Given the description of an element on the screen output the (x, y) to click on. 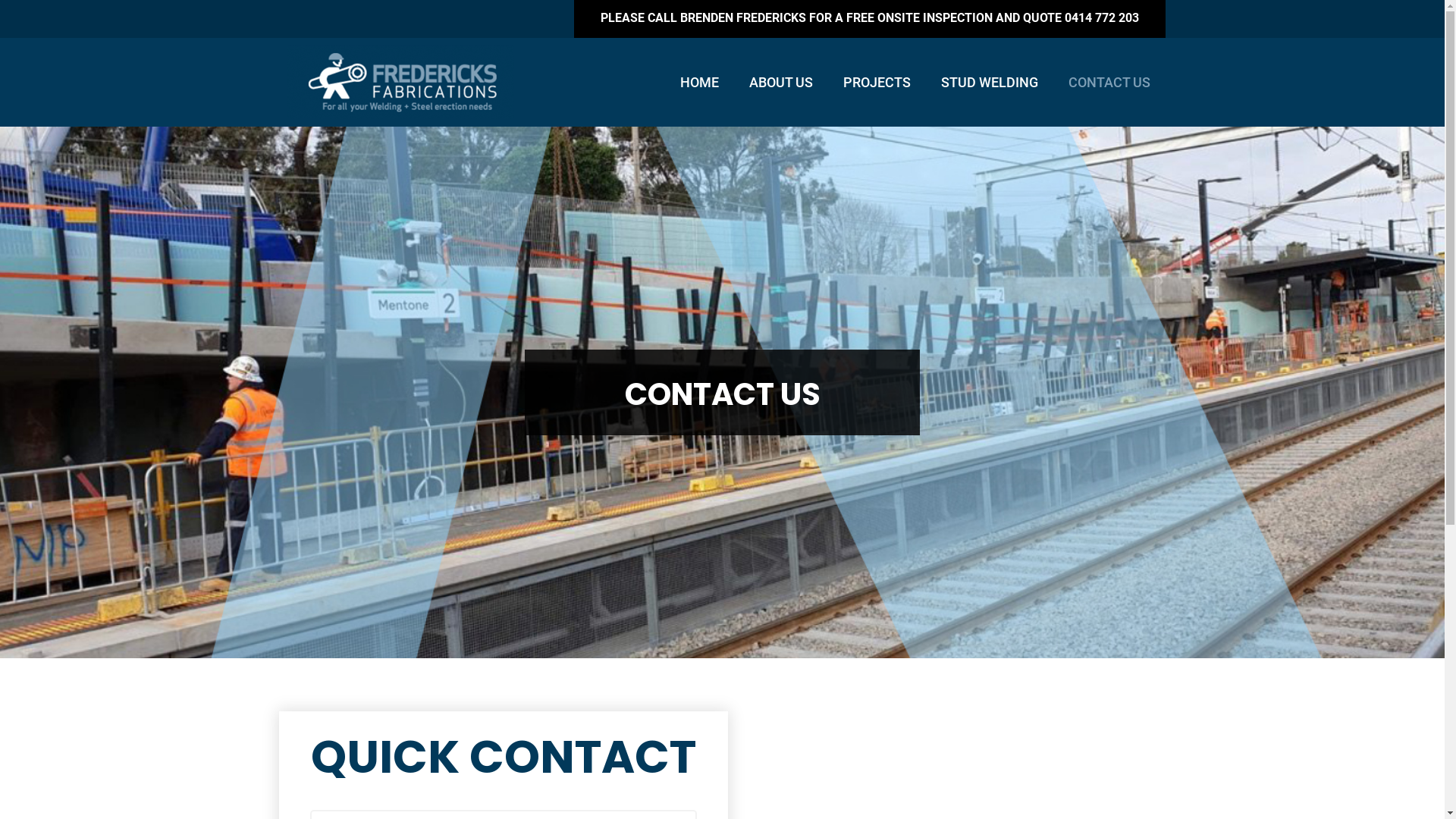
PROJECTS Element type: text (876, 82)
HOME Element type: text (699, 82)
STUD WELDING Element type: text (989, 82)
ABOUT US Element type: text (781, 82)
0414 772 203 Element type: text (1101, 17)
CONTACT US Element type: text (1109, 82)
